Given the description of an element on the screen output the (x, y) to click on. 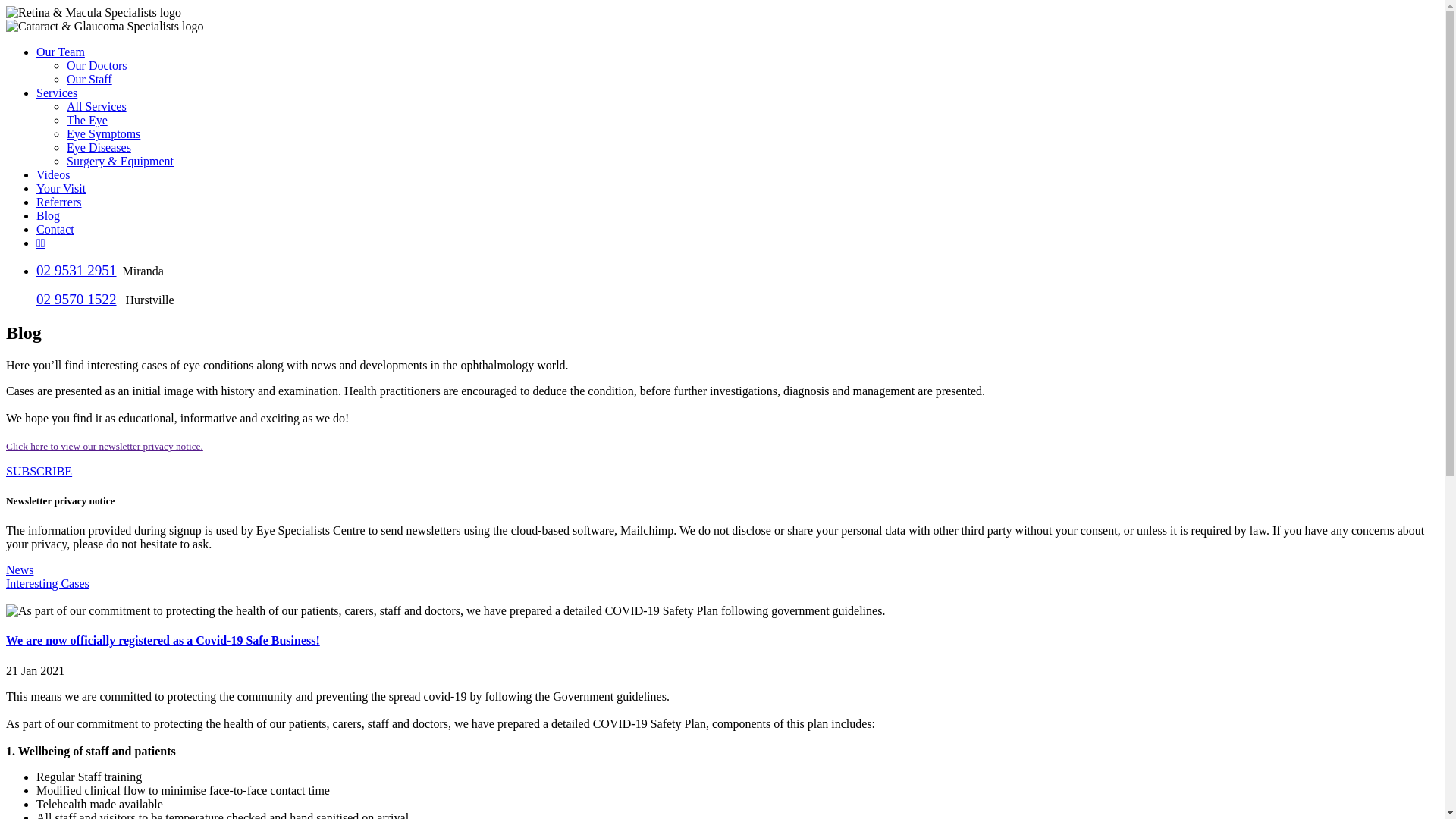
Surgery & Equipment Element type: text (119, 160)
Services Element type: text (56, 92)
02 9570 1522 Element type: text (76, 299)
Videos Element type: text (52, 174)
Blog Element type: text (47, 215)
Contact Element type: text (55, 228)
Referrers Element type: text (58, 201)
Eye Symptoms Element type: text (103, 133)
The Eye Element type: text (86, 119)
Interesting Cases Element type: text (47, 583)
02 9531 2951 Element type: text (76, 270)
Our Doctors Element type: text (96, 65)
Click here to view our newsletter privacy notice. Element type: text (104, 445)
News Element type: text (19, 569)
Eye Diseases Element type: text (98, 147)
  Element type: text (7, 596)
Your Visit Element type: text (60, 188)
All Services Element type: text (96, 106)
SUBSCRIBE Element type: text (39, 470)
Our Staff Element type: text (89, 78)
Our Team Element type: text (60, 51)
